Given the description of an element on the screen output the (x, y) to click on. 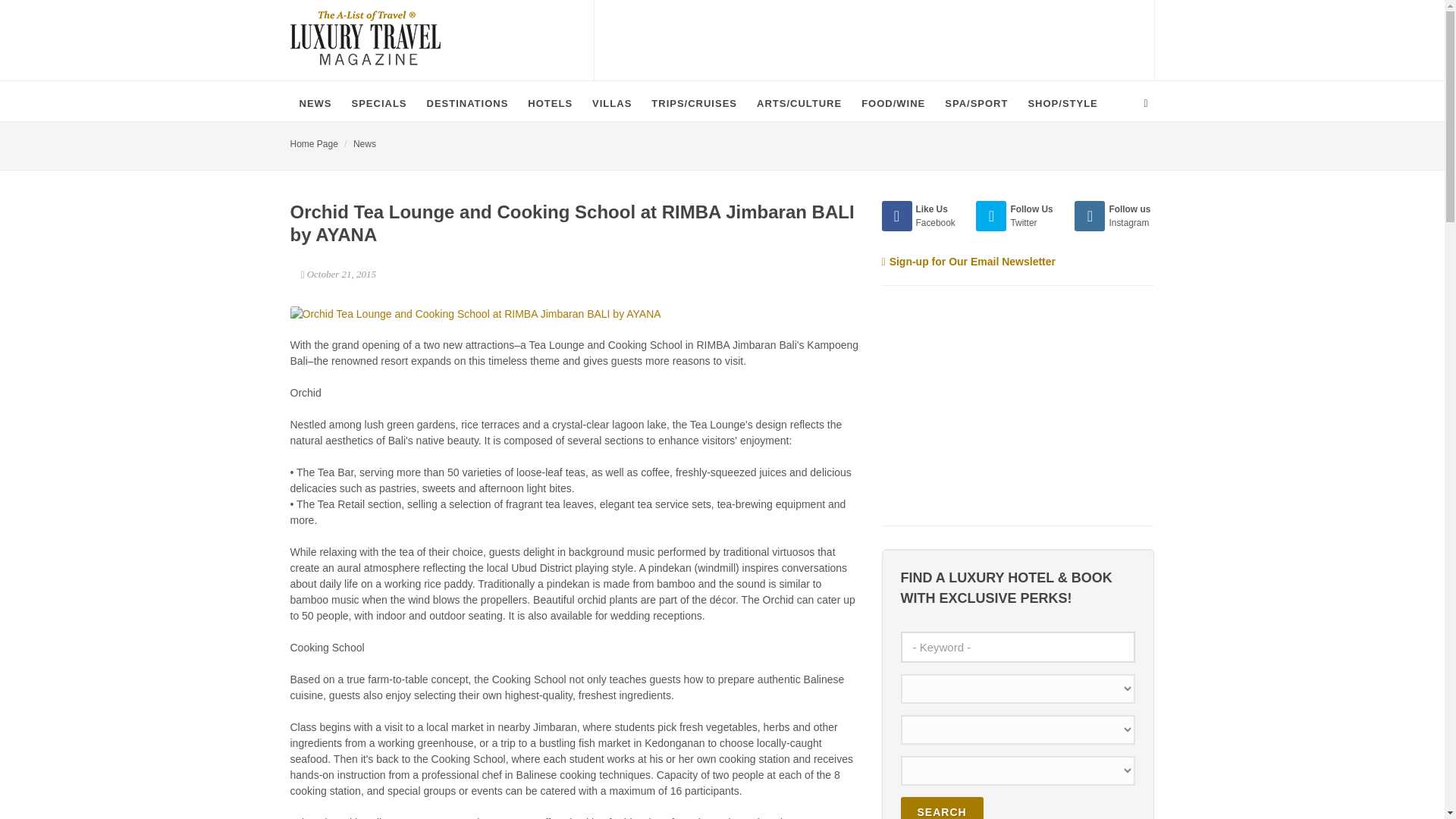
VILLAS (611, 103)
HOTELS (549, 103)
Search (942, 807)
DESTINATIONS (467, 103)
SPECIALS (379, 103)
NEWS (314, 103)
